Given the description of an element on the screen output the (x, y) to click on. 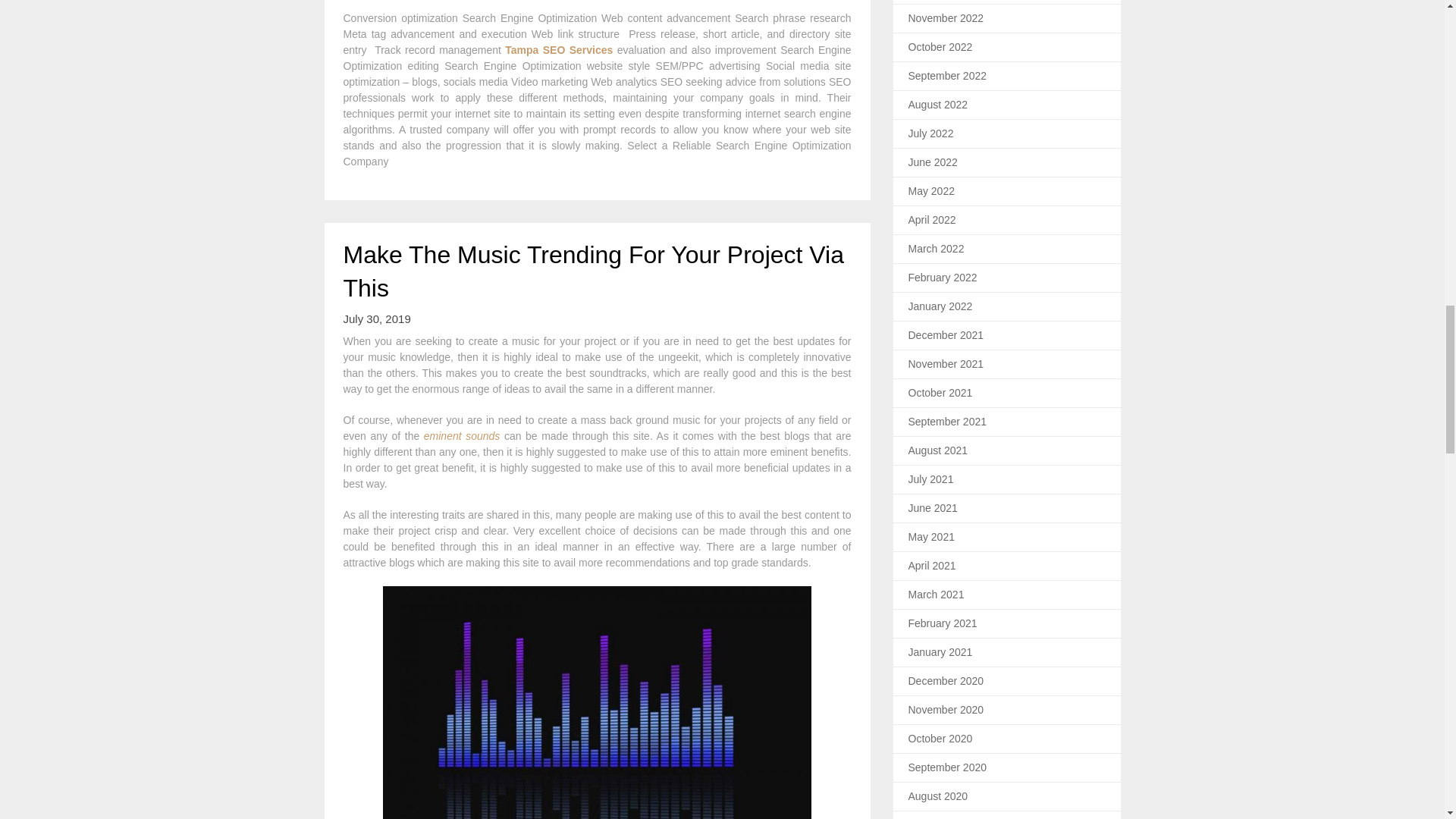
Make The Music Trending For Your Project Via This (592, 271)
Tampa SEO Services (558, 50)
eminent sounds (461, 435)
Make The Music Trending For Your Project Via This (592, 271)
